Given the description of an element on the screen output the (x, y) to click on. 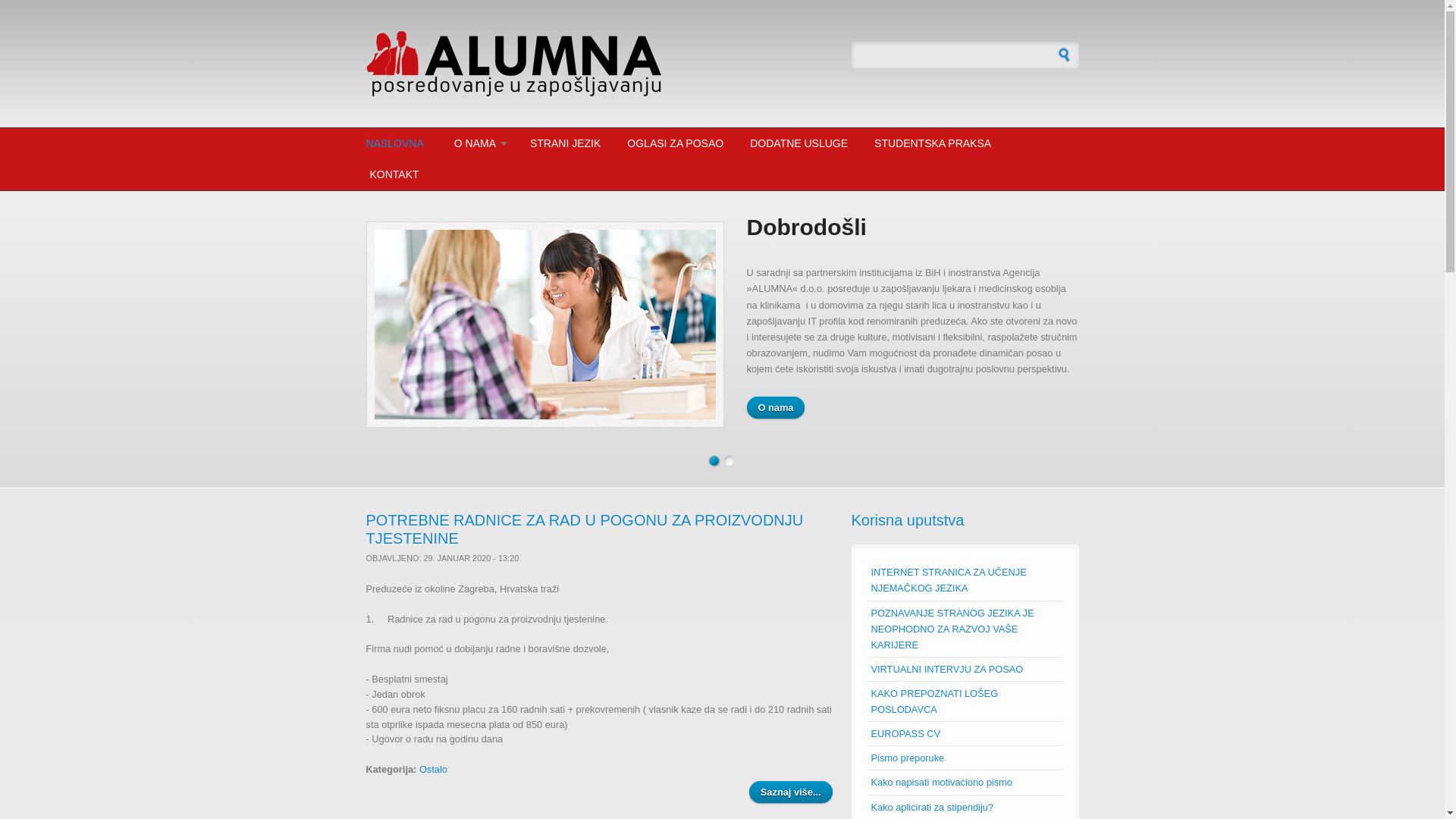
Naslovna Element type: hover (600, 63)
O NAMA Element type: text (476, 143)
STRANI JEZIK Element type: text (565, 143)
O nama Element type: text (775, 407)
VIRTUALNI INTERVJU ZA POSAO Element type: text (946, 668)
Kako napisati motivaciono pismo Element type: text (940, 781)
Pismo preporuke Element type: text (907, 757)
NASLOVNA Element type: text (395, 143)
OGLASI ZA POSAO Element type: text (675, 143)
Kako aplicirati za stipendiju? Element type: text (931, 806)
KONTAKT Element type: text (391, 174)
DODATNE USLUGE Element type: text (798, 143)
EUROPASS CV Element type: text (905, 733)
POTREBNE RADNICE ZA RAD U POGONU ZA PROIZVODNJU TJESTENINE Element type: text (584, 528)
Skip to main content Element type: text (43, 0)
STUDENTSKA PRAKSA Element type: text (932, 143)
Ostalo Element type: text (433, 769)
